Given the description of an element on the screen output the (x, y) to click on. 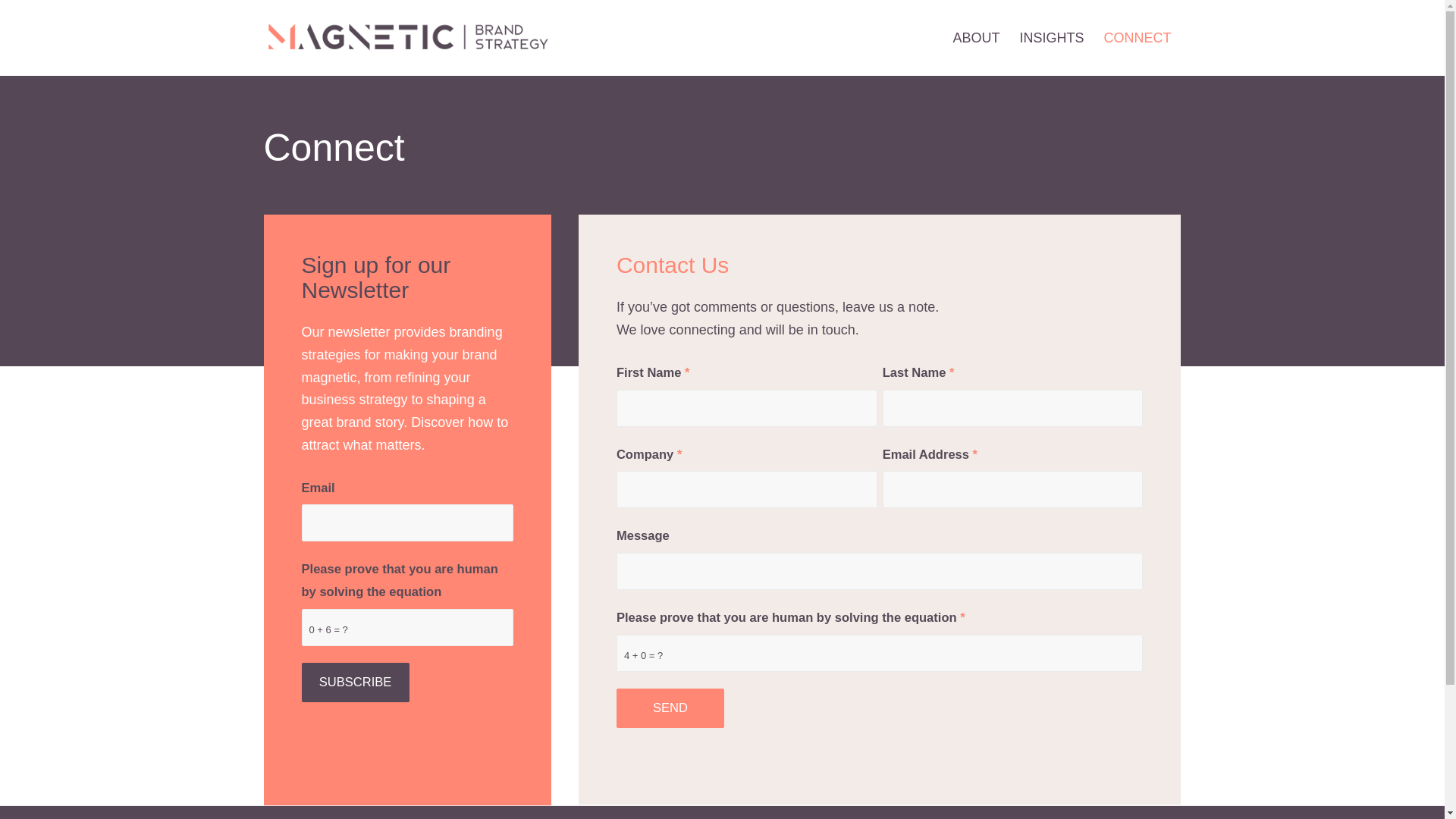
SEND (669, 708)
INSIGHTS (1051, 38)
CONNECT (1136, 38)
SUBSCRIBE (355, 681)
magnetic-brand-strategy-logo3 (429, 38)
SUBSCRIBE (355, 681)
SEND (669, 708)
